Given the description of an element on the screen output the (x, y) to click on. 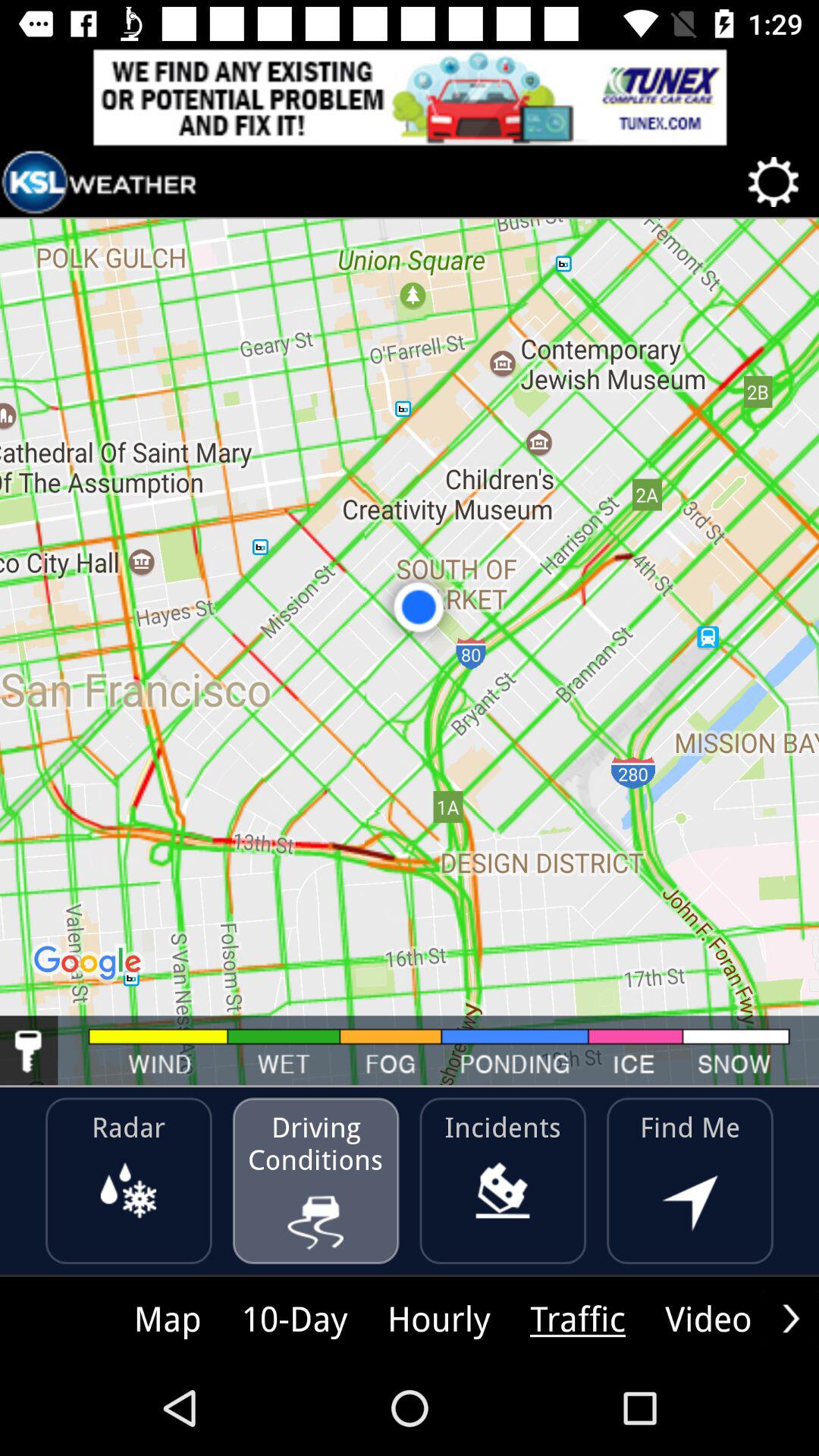
ksl weather icon (99, 182)
